Given the description of an element on the screen output the (x, y) to click on. 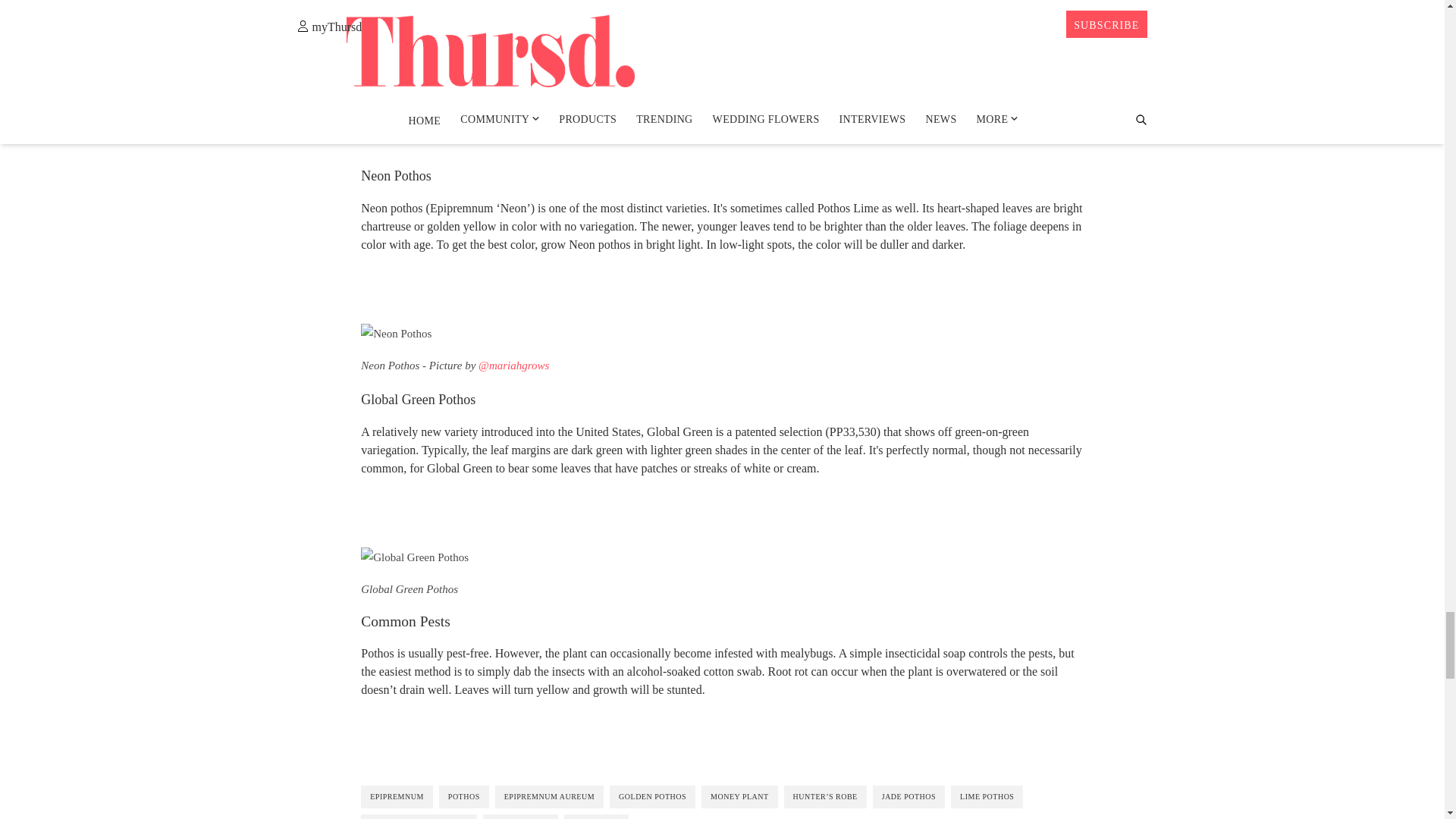
Global Green Pothos (414, 557)
Neon Pothos (395, 333)
Pothos Marble Queen (416, 62)
